Given the description of an element on the screen output the (x, y) to click on. 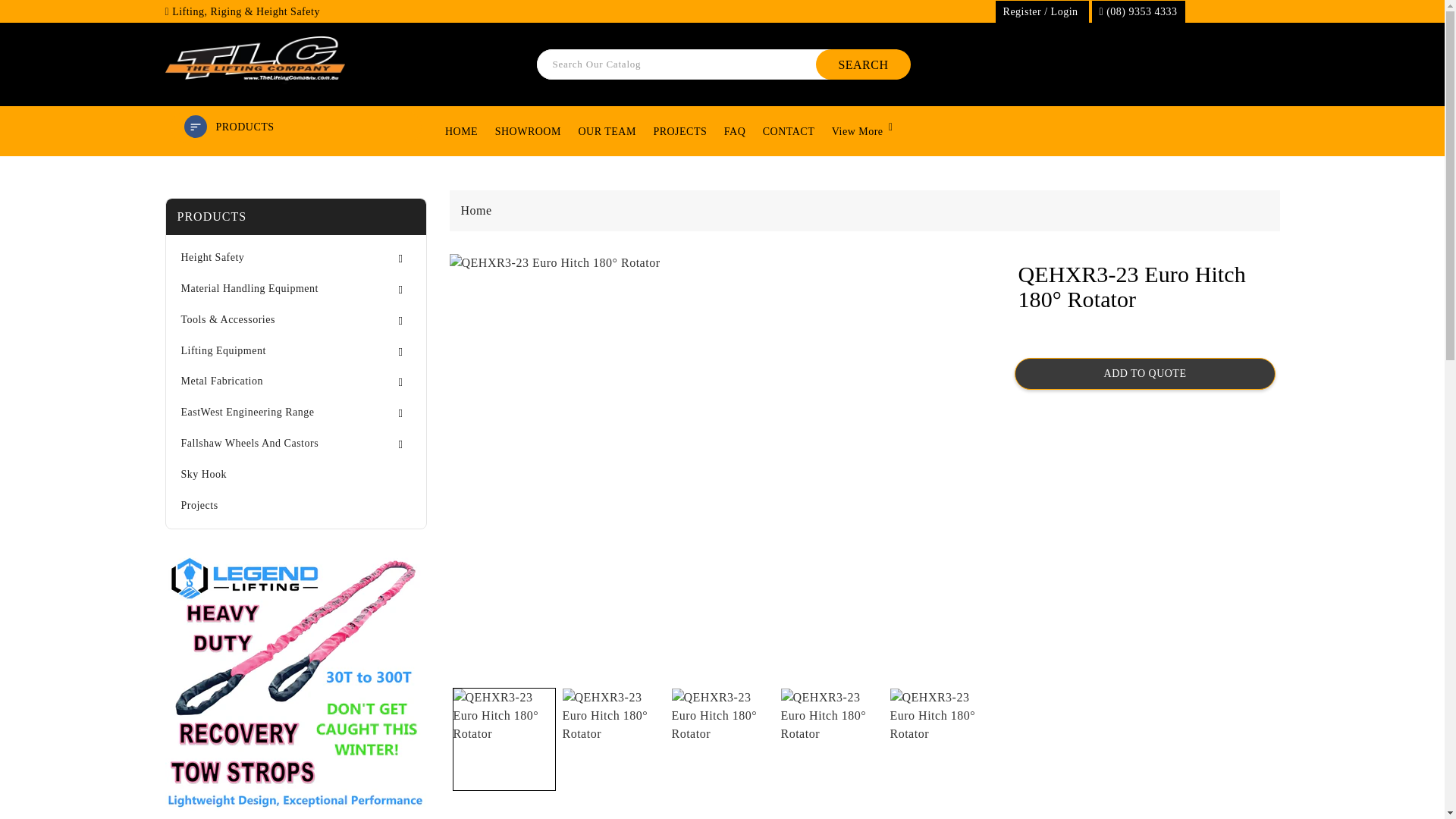
OUR TEAM (606, 131)
FAQ (734, 131)
PRODUCTS (244, 126)
PROJECTS (679, 131)
SHOWROOM (527, 131)
SEARCH (862, 64)
CONTACT (788, 131)
HOME (461, 131)
Blog (857, 131)
